Given the description of an element on the screen output the (x, y) to click on. 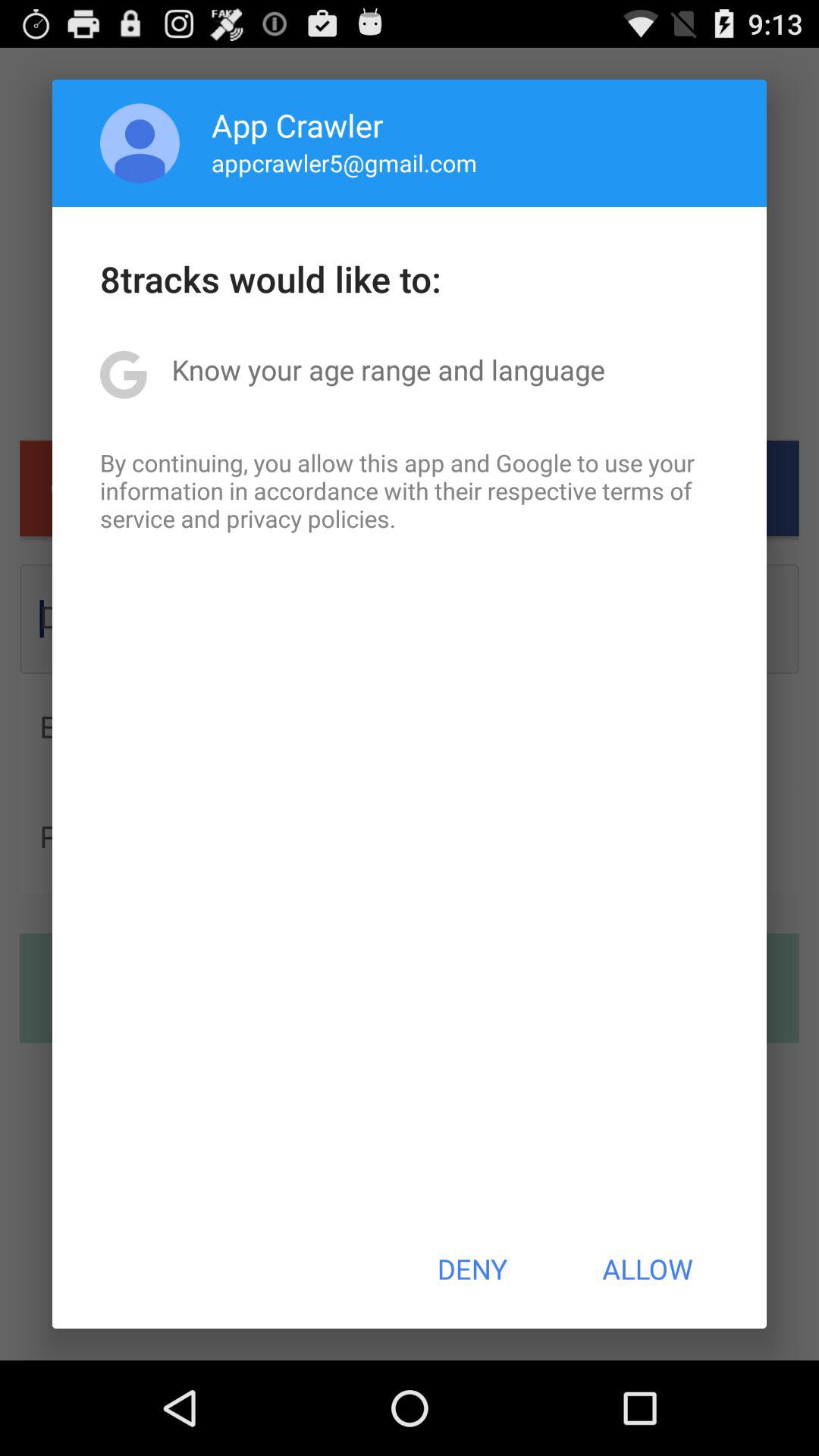
launch the know your age app (388, 369)
